Given the description of an element on the screen output the (x, y) to click on. 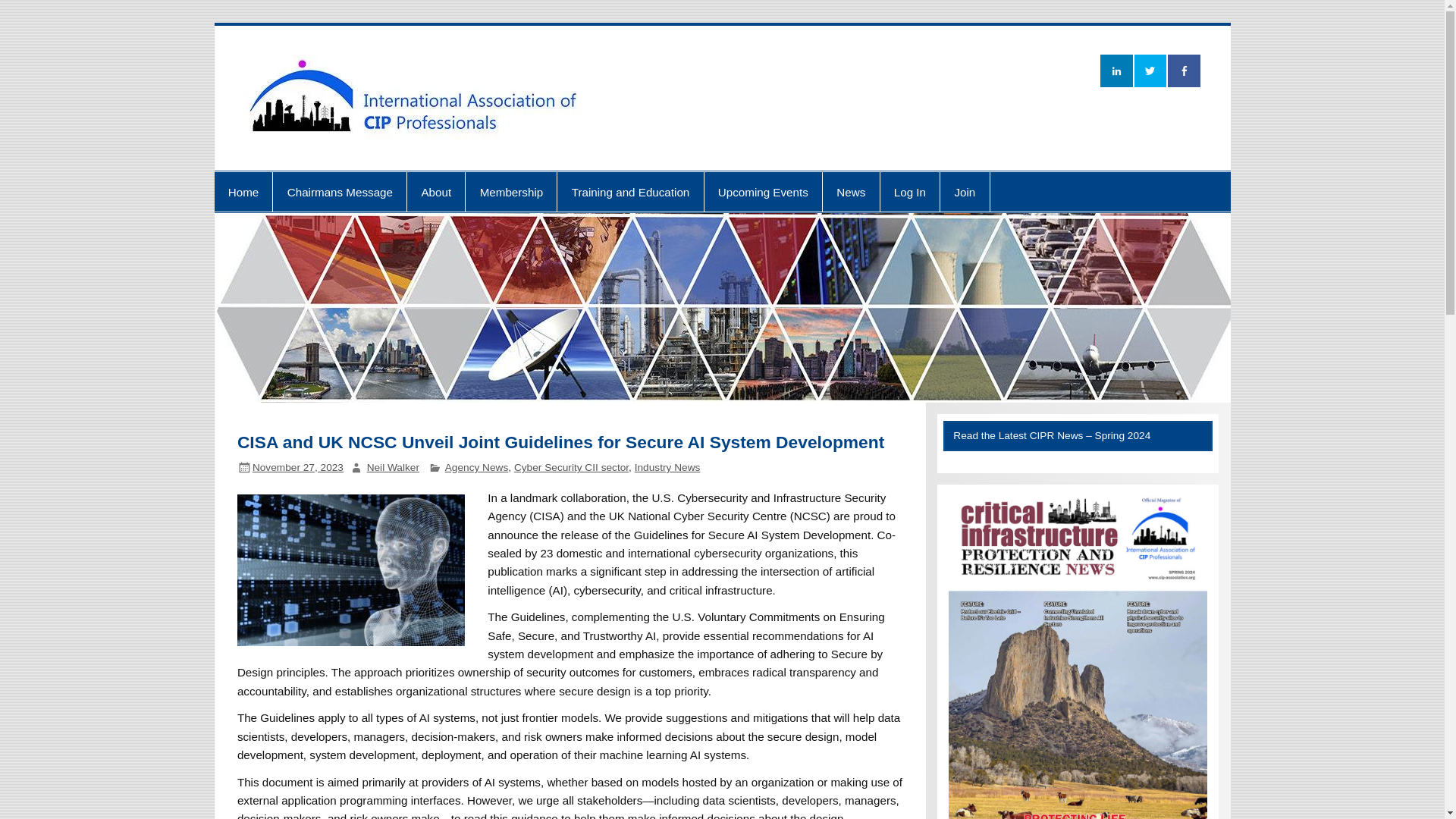
Training and Education (630, 191)
News (850, 191)
International Association of CIP Professionals (1098, 69)
Home (243, 191)
About (435, 191)
Cyber Security CII sector (570, 467)
Chairmans Message (339, 191)
November 27, 2023 (297, 467)
Upcoming Events (763, 191)
Industry News (667, 467)
Log In (909, 191)
View all posts by Neil Walker (392, 467)
Agency News (476, 467)
8:43 pm (297, 467)
Join (964, 191)
